Given the description of an element on the screen output the (x, y) to click on. 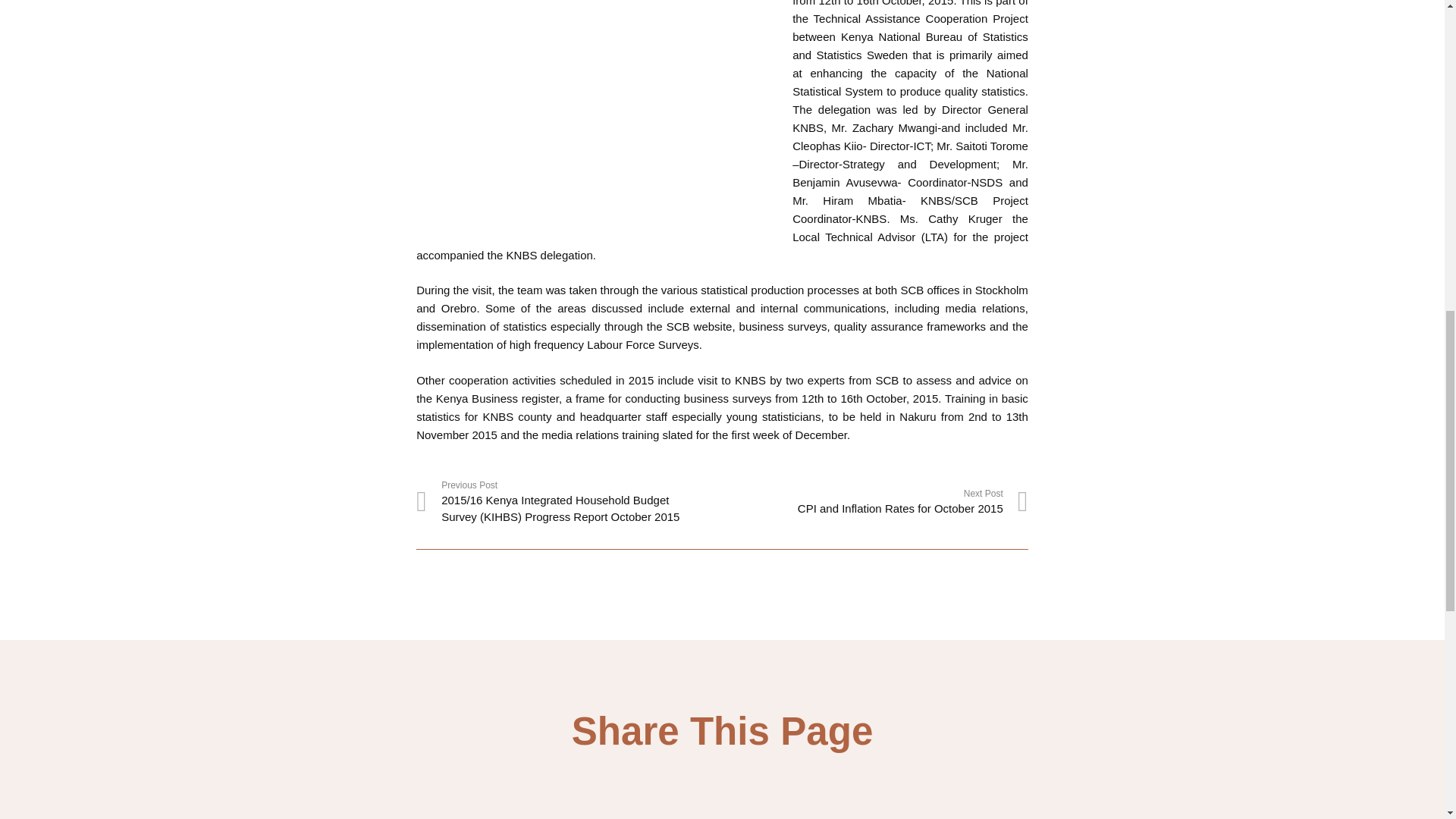
CPI and Inflation Rates for October 2015 (874, 502)
